Given the description of an element on the screen output the (x, y) to click on. 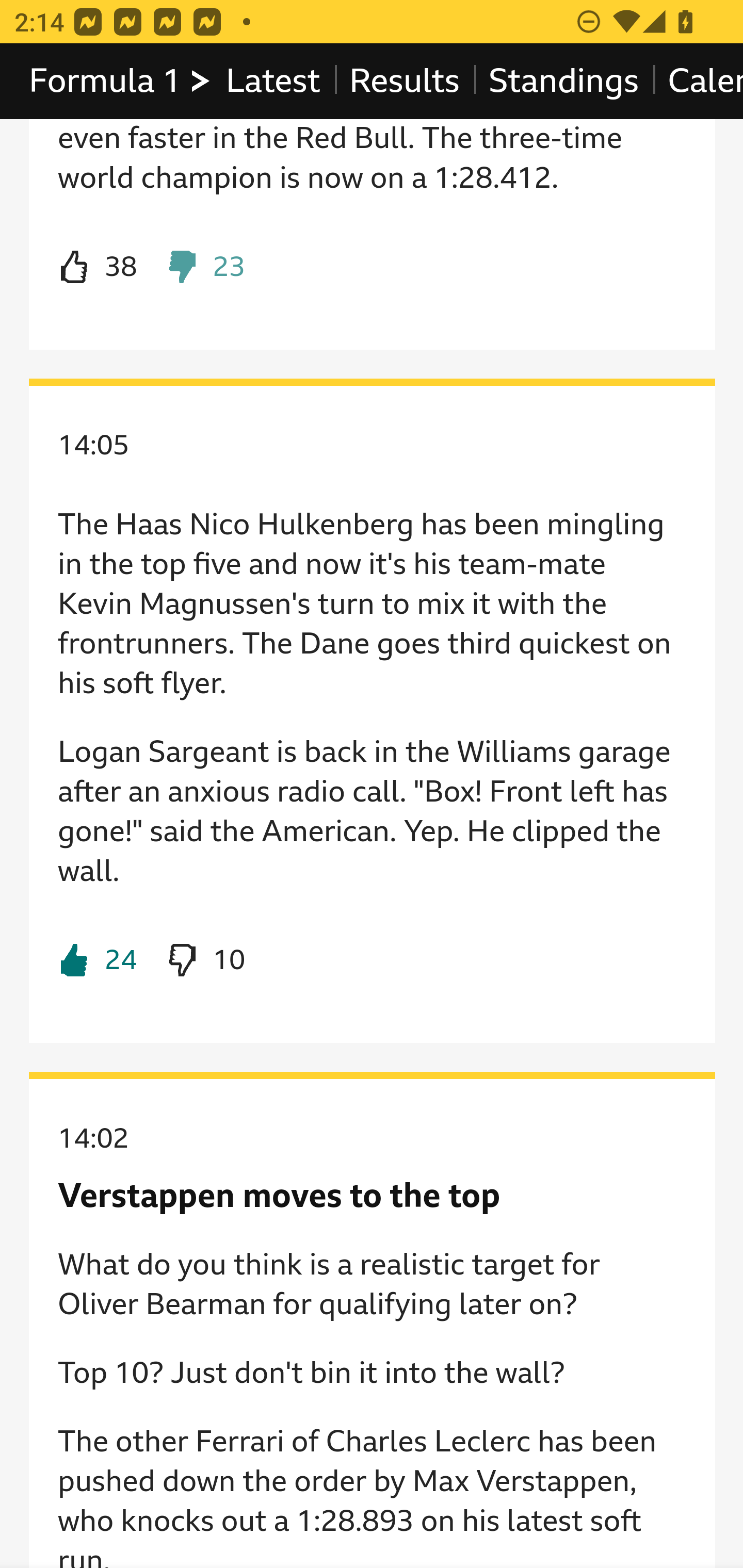
Like (97, 267)
Disliked (204, 267)
Liked (97, 960)
Dislike (204, 960)
